Given the description of an element on the screen output the (x, y) to click on. 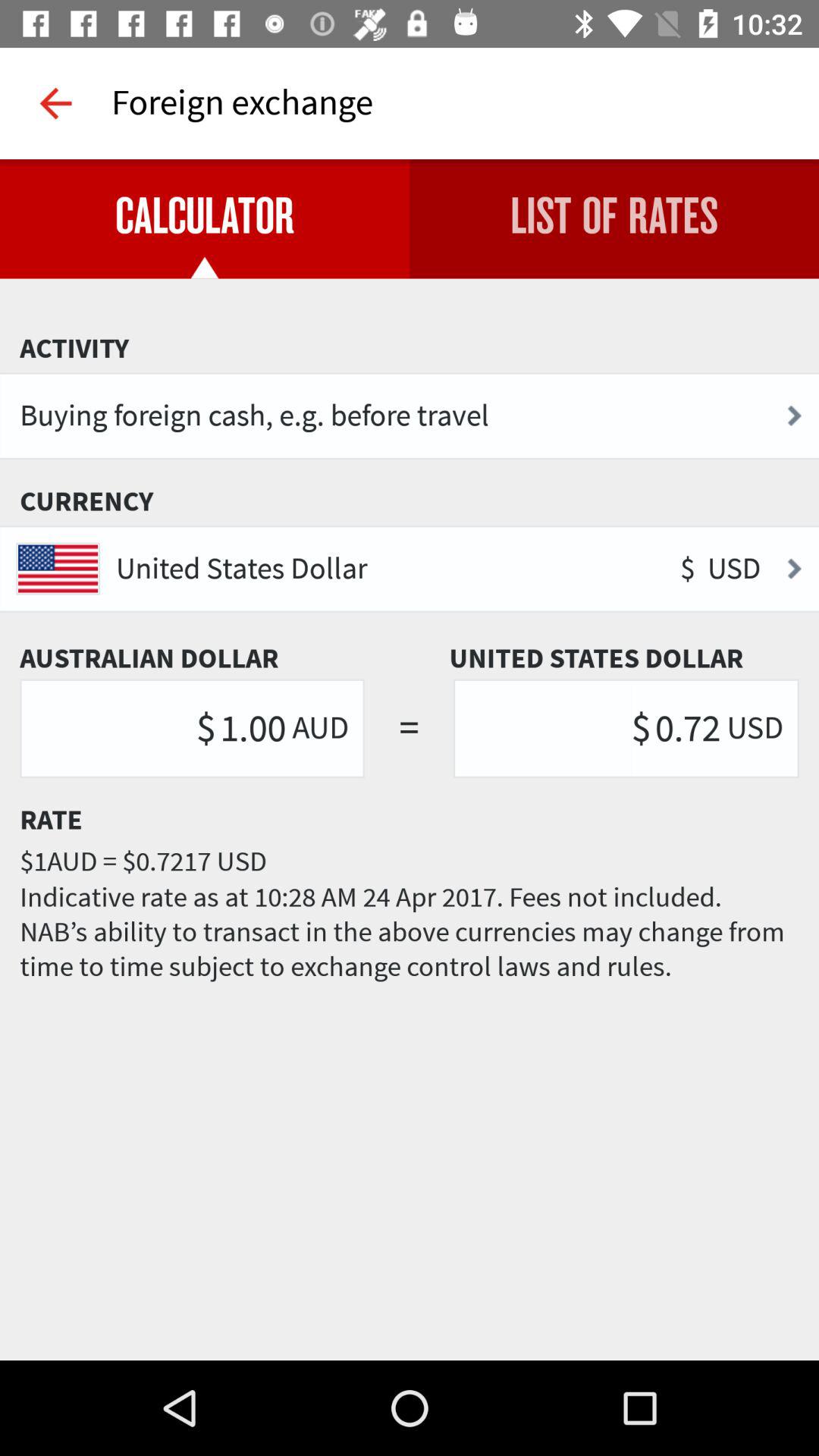
press icon to the left of foreign exchange (55, 103)
